Given the description of an element on the screen output the (x, y) to click on. 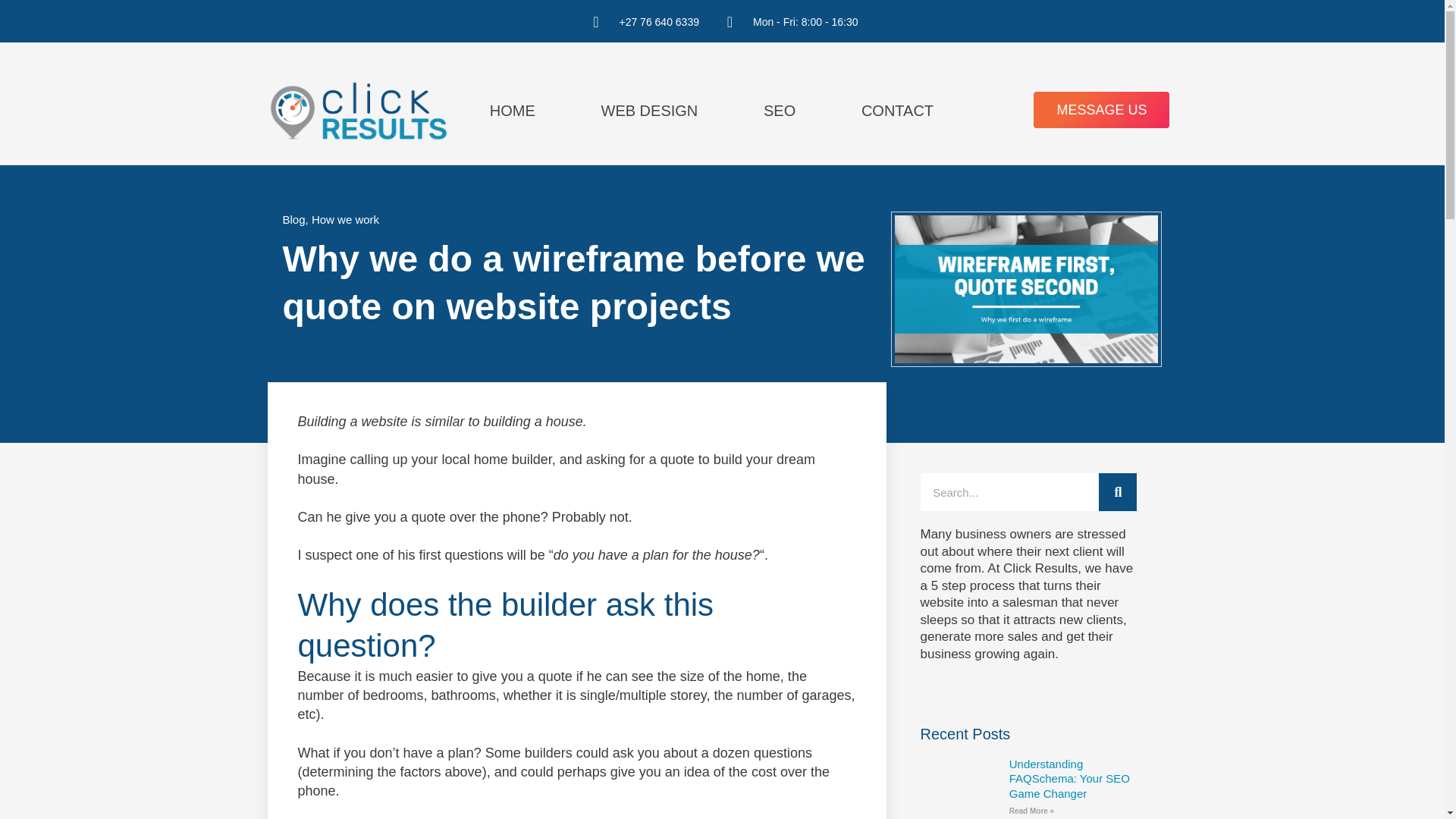
MESSAGE US (1101, 109)
SEO (779, 110)
WEB DESIGN (648, 110)
Understanding FAQSchema: Your SEO Game Changer (1069, 778)
HOME (512, 110)
SEARCH (1118, 492)
CONTACT (897, 110)
How we work (344, 219)
Blog (293, 219)
